Given the description of an element on the screen output the (x, y) to click on. 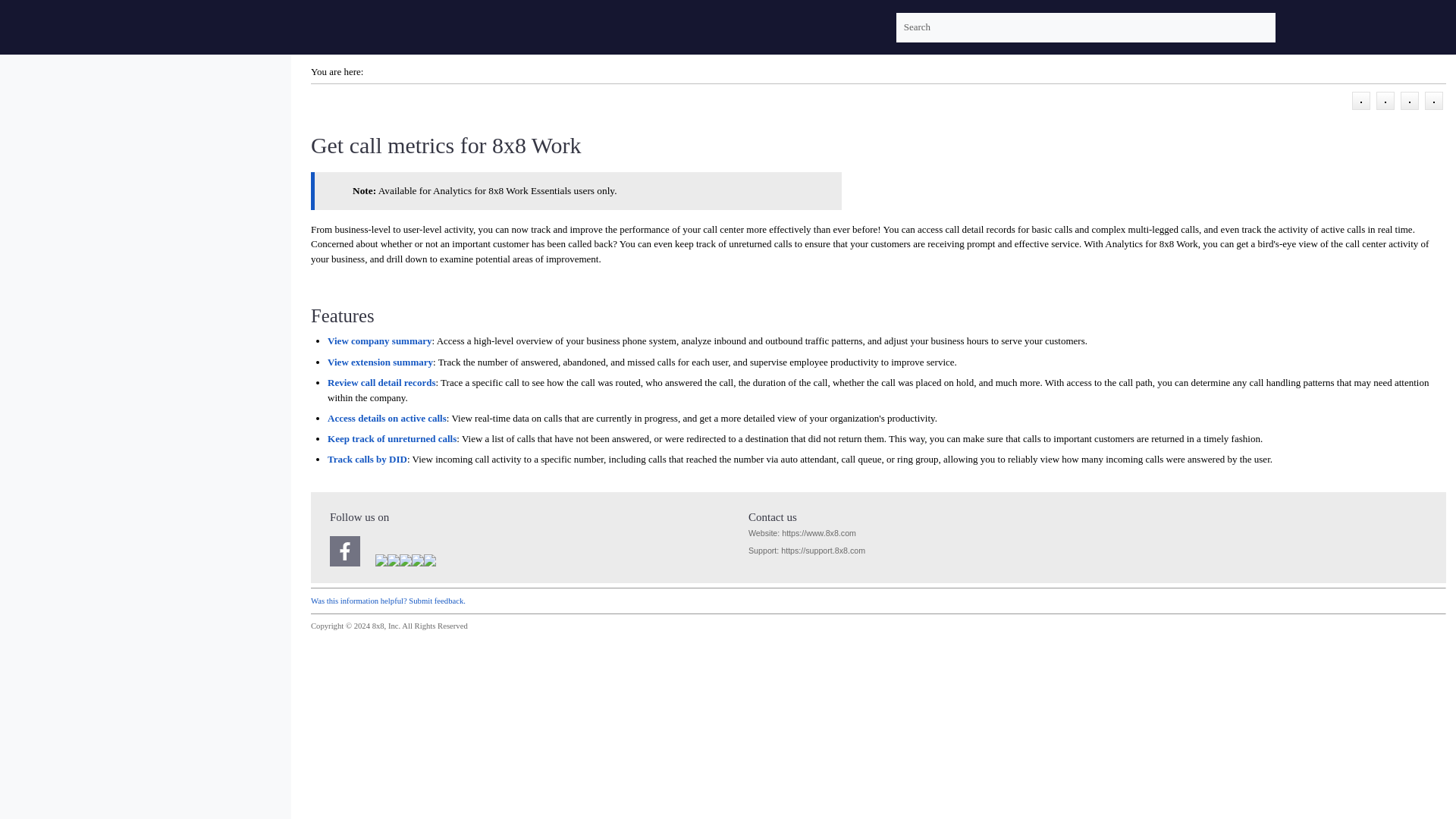
Review call detail records (381, 382)
Print (1361, 99)
View company summary (378, 340)
View extension summary (379, 361)
Keep track of unreturned calls (392, 438)
Search (1261, 26)
Track calls by DID (367, 459)
Navigate next (1433, 99)
Navigate previous (1409, 99)
Was this information helpful? Submit feedback. (388, 601)
